Given the description of an element on the screen output the (x, y) to click on. 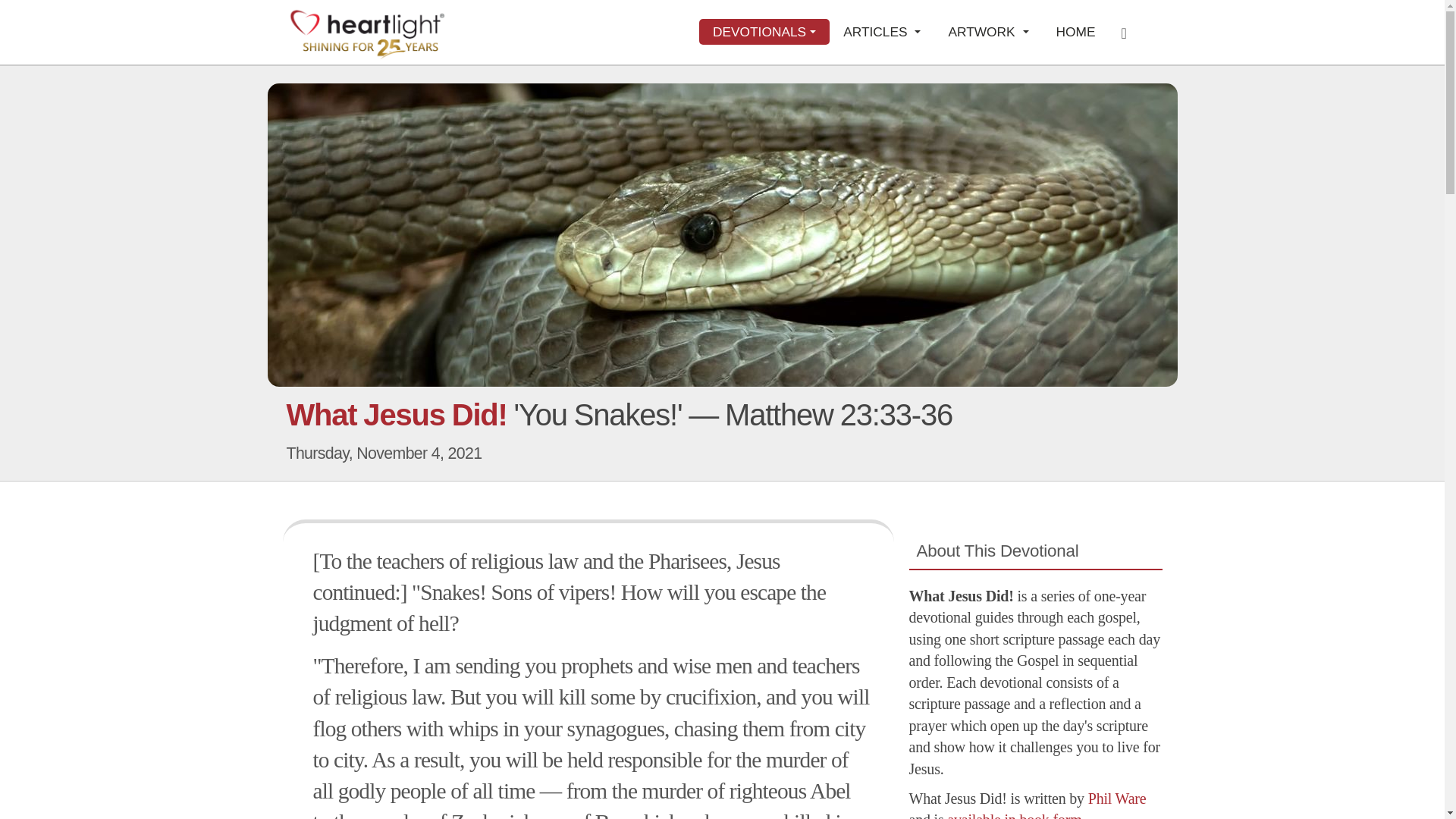
Search Heartlight (1127, 32)
ARTWORK (988, 31)
Heartlight - Home (367, 33)
DEVOTIONALS (763, 31)
ARTICLES (881, 31)
HOME (1075, 31)
